Given the description of an element on the screen output the (x, y) to click on. 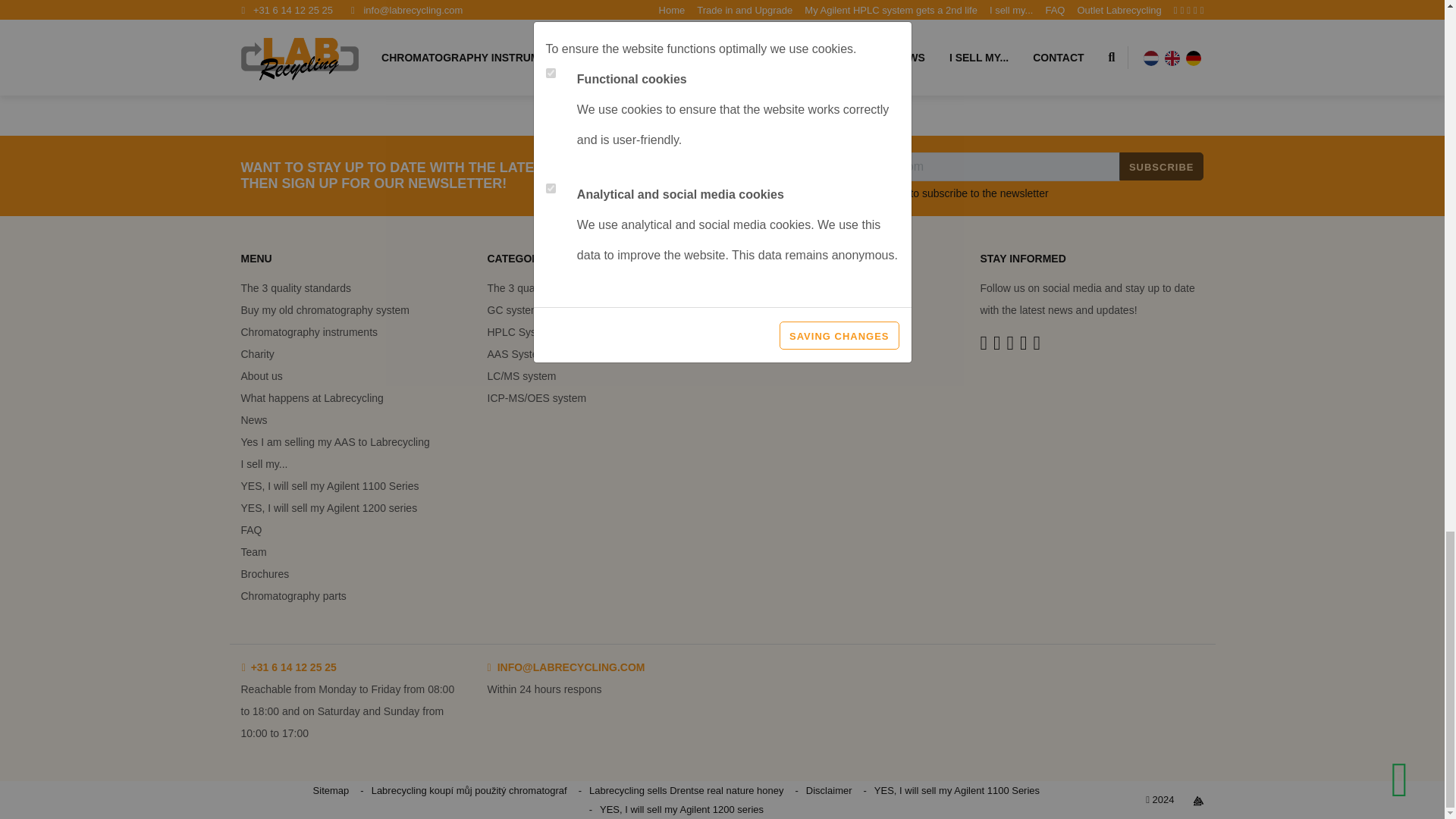
on (820, 192)
SUBSCRIBE (1161, 166)
MENU (352, 264)
